Given the description of an element on the screen output the (x, y) to click on. 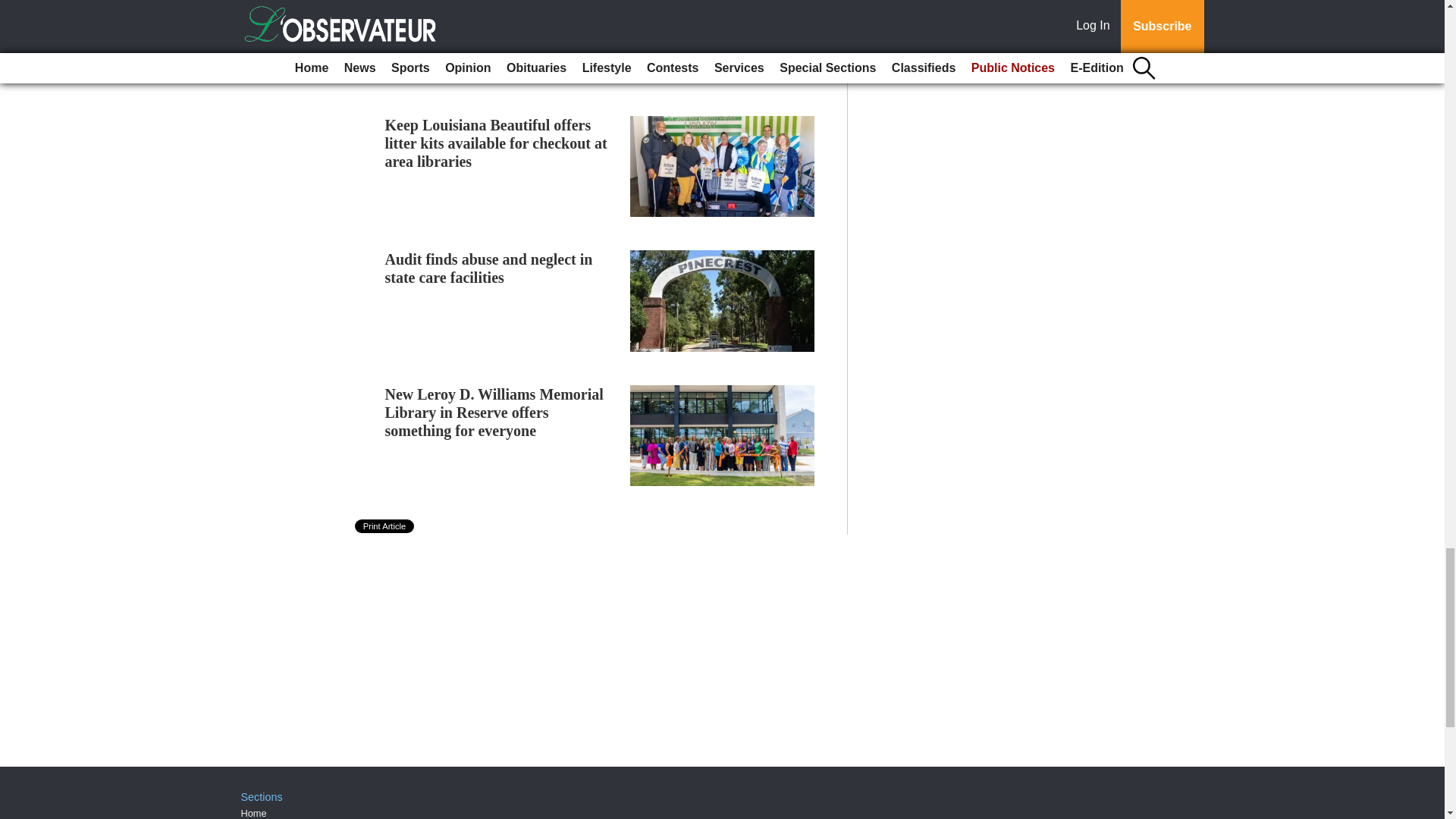
Official opening of West Bank Spray Park set for July 30 (482, 7)
Audit finds abuse and neglect in state care facilities (488, 267)
Audit finds abuse and neglect in state care facilities (488, 267)
Print Article (384, 526)
Official opening of West Bank Spray Park set for July 30 (482, 7)
